Given the description of an element on the screen output the (x, y) to click on. 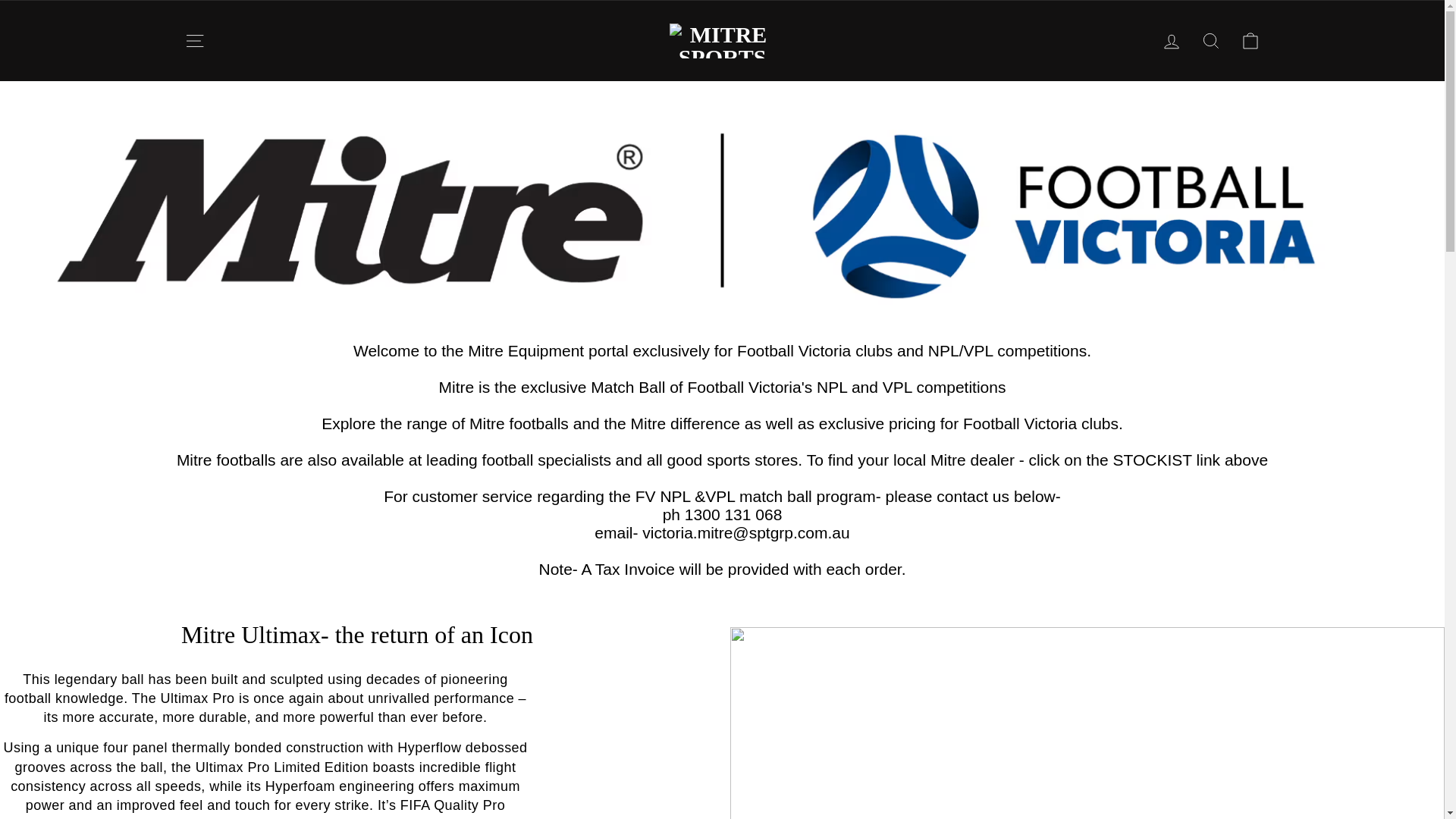
ICON-HAMBURGER (194, 40)
ACCOUNT (1170, 41)
ICON-BAG-MINIMAL (1249, 40)
ICON-SEARCH (1210, 40)
